Given the description of an element on the screen output the (x, y) to click on. 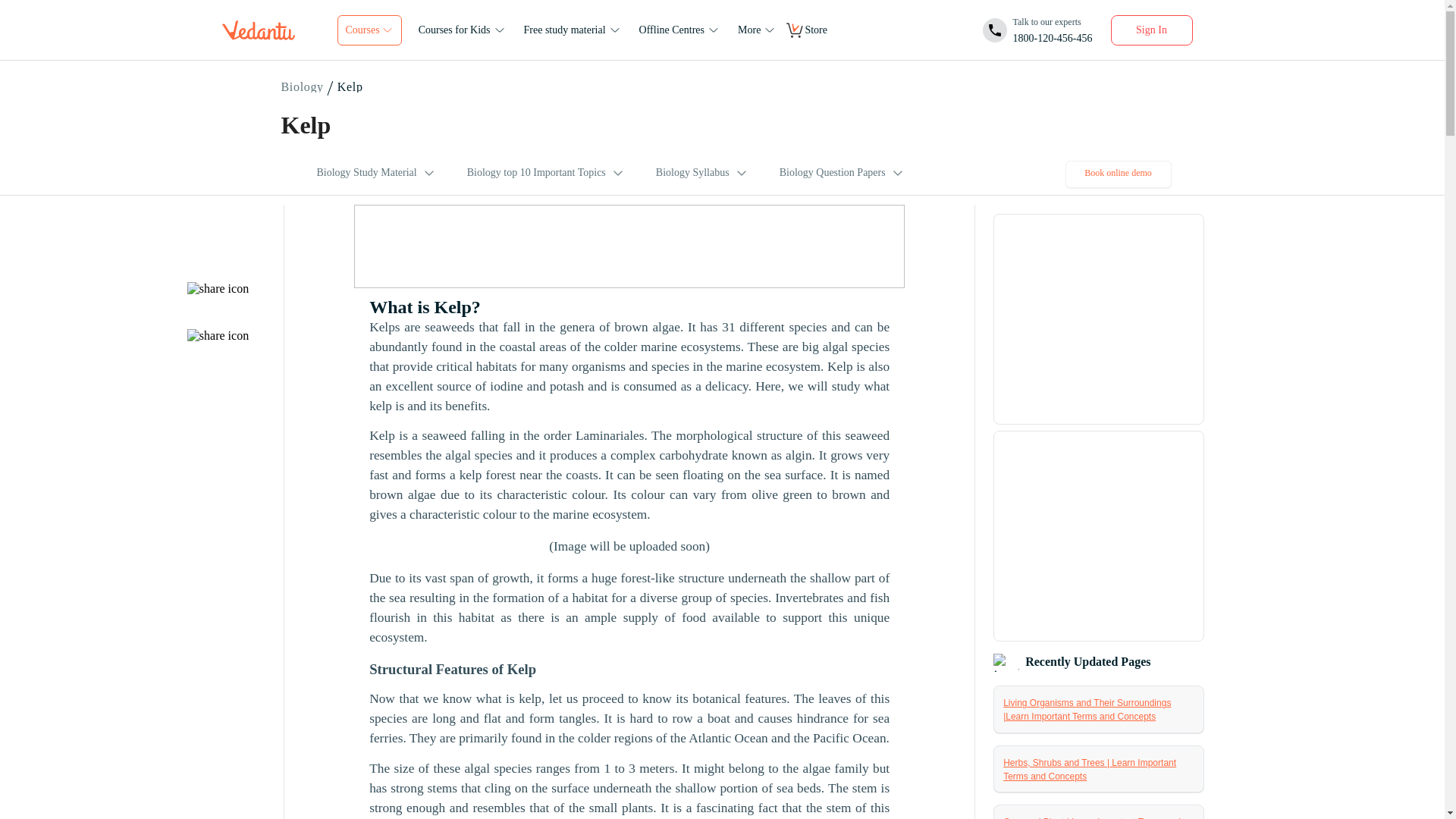
Offline Centres (680, 30)
Biology (1037, 30)
Sign In (303, 86)
